Given the description of an element on the screen output the (x, y) to click on. 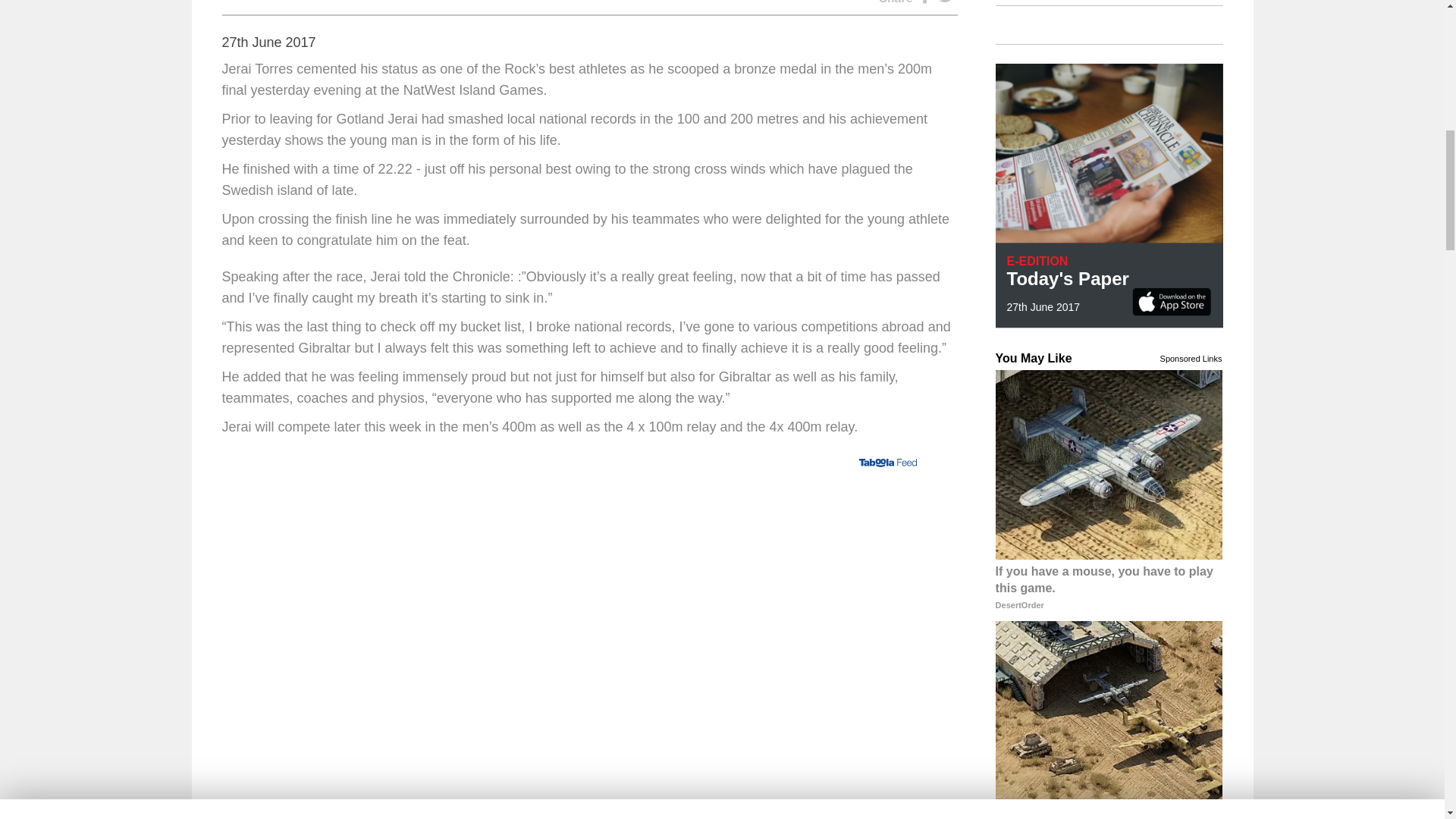
BY CRISTINA CAVILLA (287, 1)
Share on Twitter (948, 2)
Share on Facebook (924, 2)
